Given the description of an element on the screen output the (x, y) to click on. 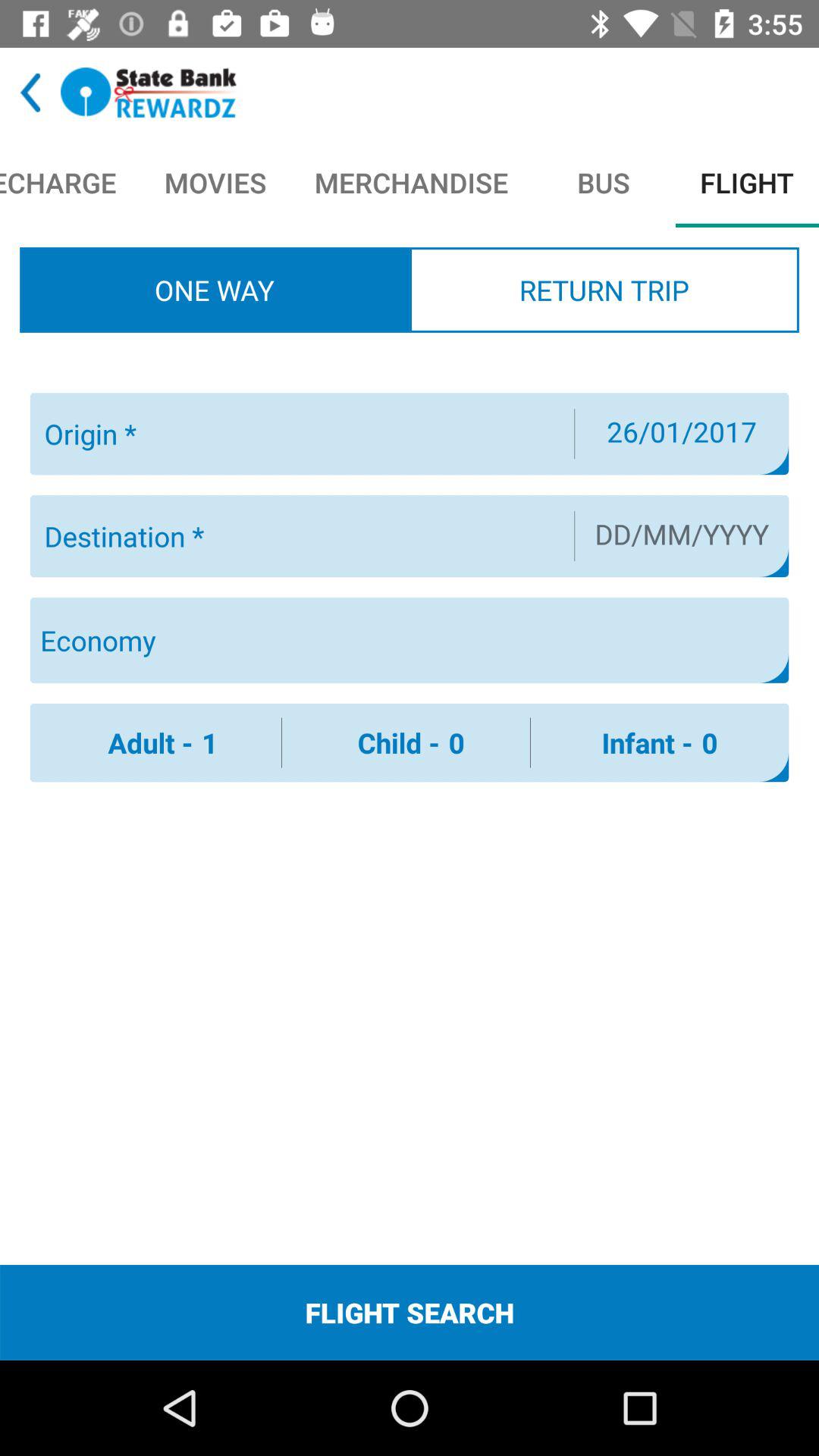
bank name (148, 92)
